Given the description of an element on the screen output the (x, y) to click on. 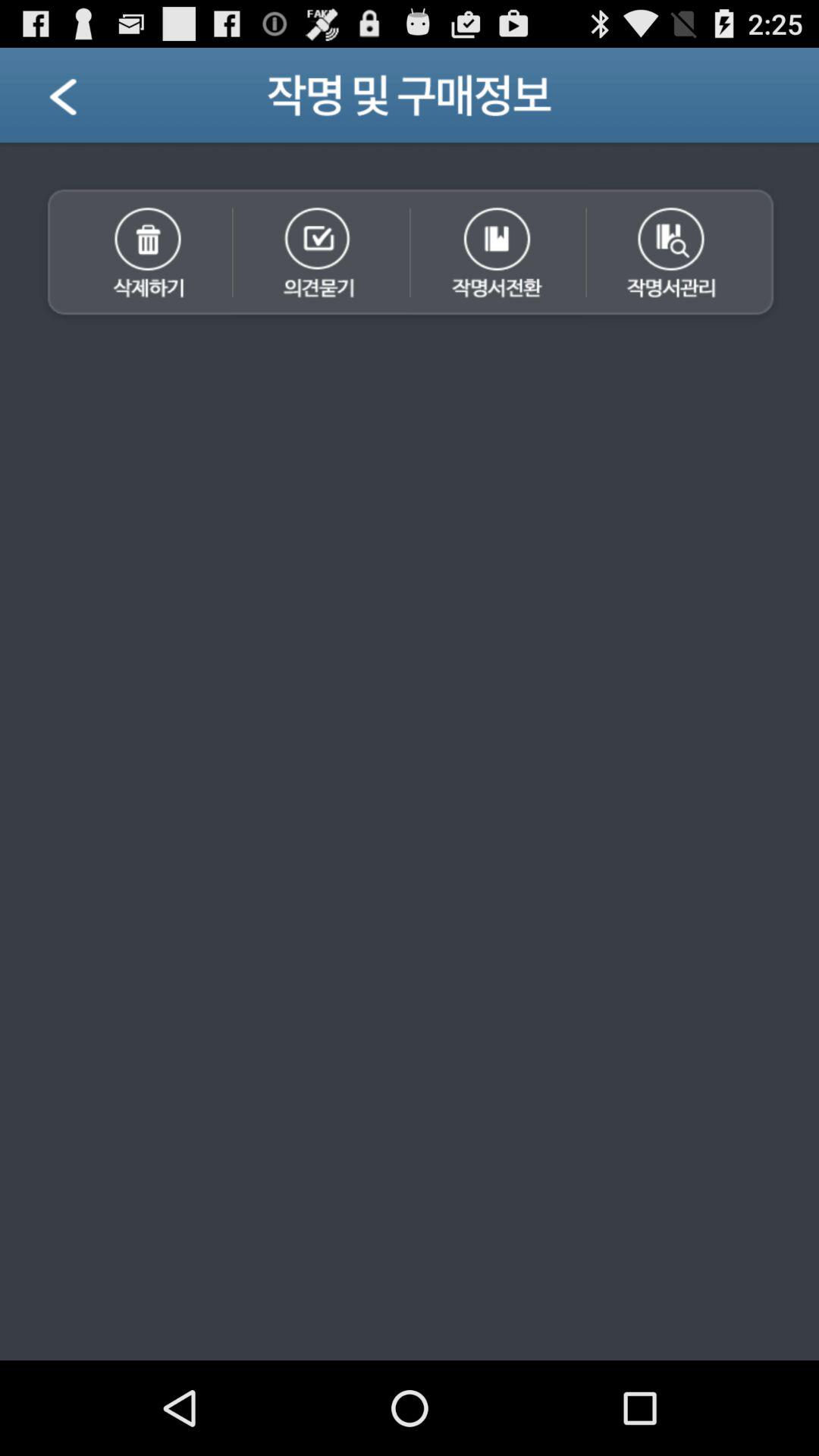
search option (684, 253)
